Given the description of an element on the screen output the (x, y) to click on. 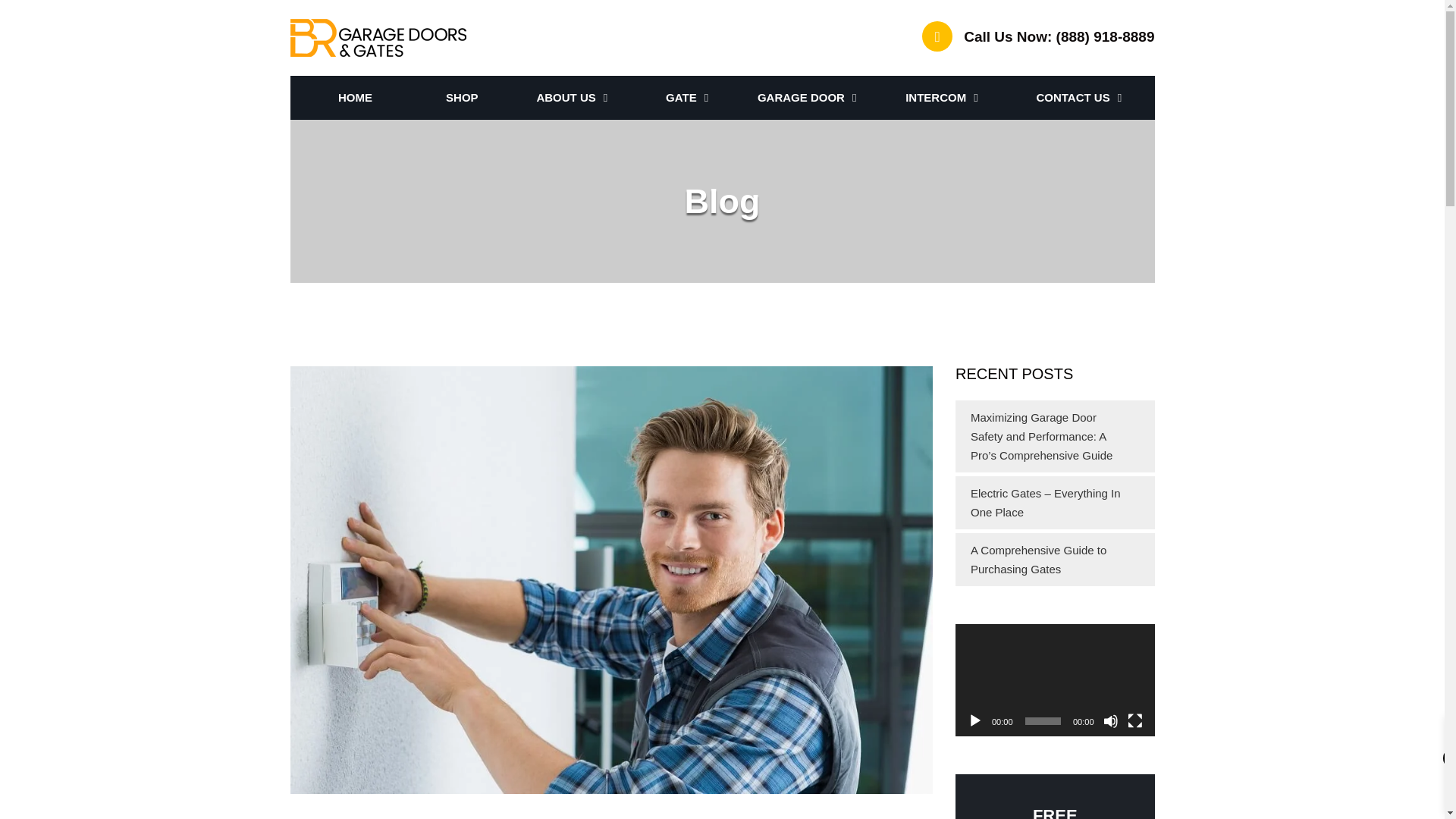
Fullscreen (1133, 720)
CONTACT US (1078, 97)
GATE (686, 97)
INTERCOM (941, 97)
SHOP (462, 97)
GARAGE DOOR (807, 97)
HOME (355, 97)
Mute (1110, 720)
A Comprehensive Guide to Purchasing Gates (1038, 559)
ABOUT US (571, 97)
Play (975, 720)
